Given the description of an element on the screen output the (x, y) to click on. 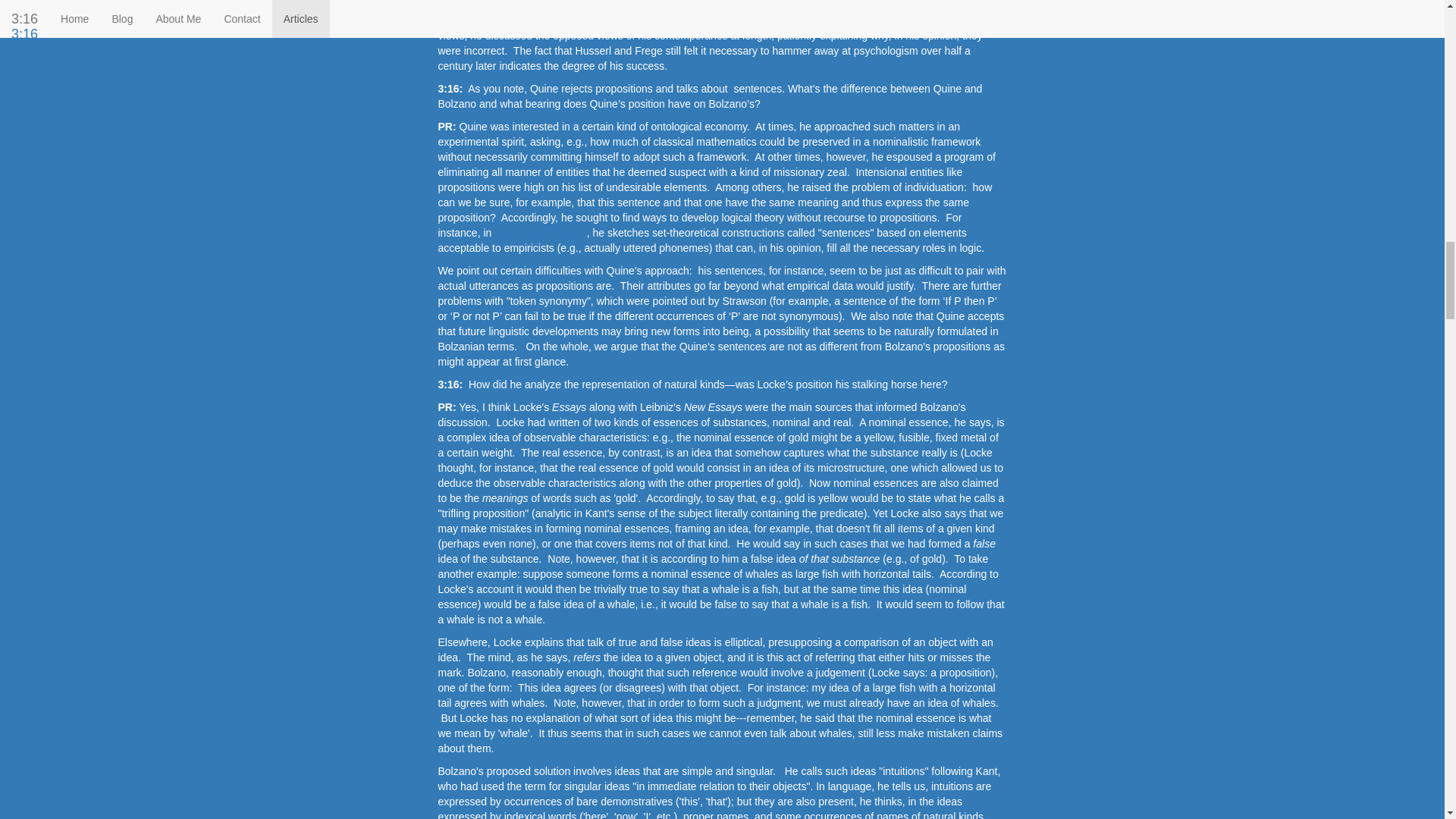
 Philosophy of Logic (539, 232)
